Given the description of an element on the screen output the (x, y) to click on. 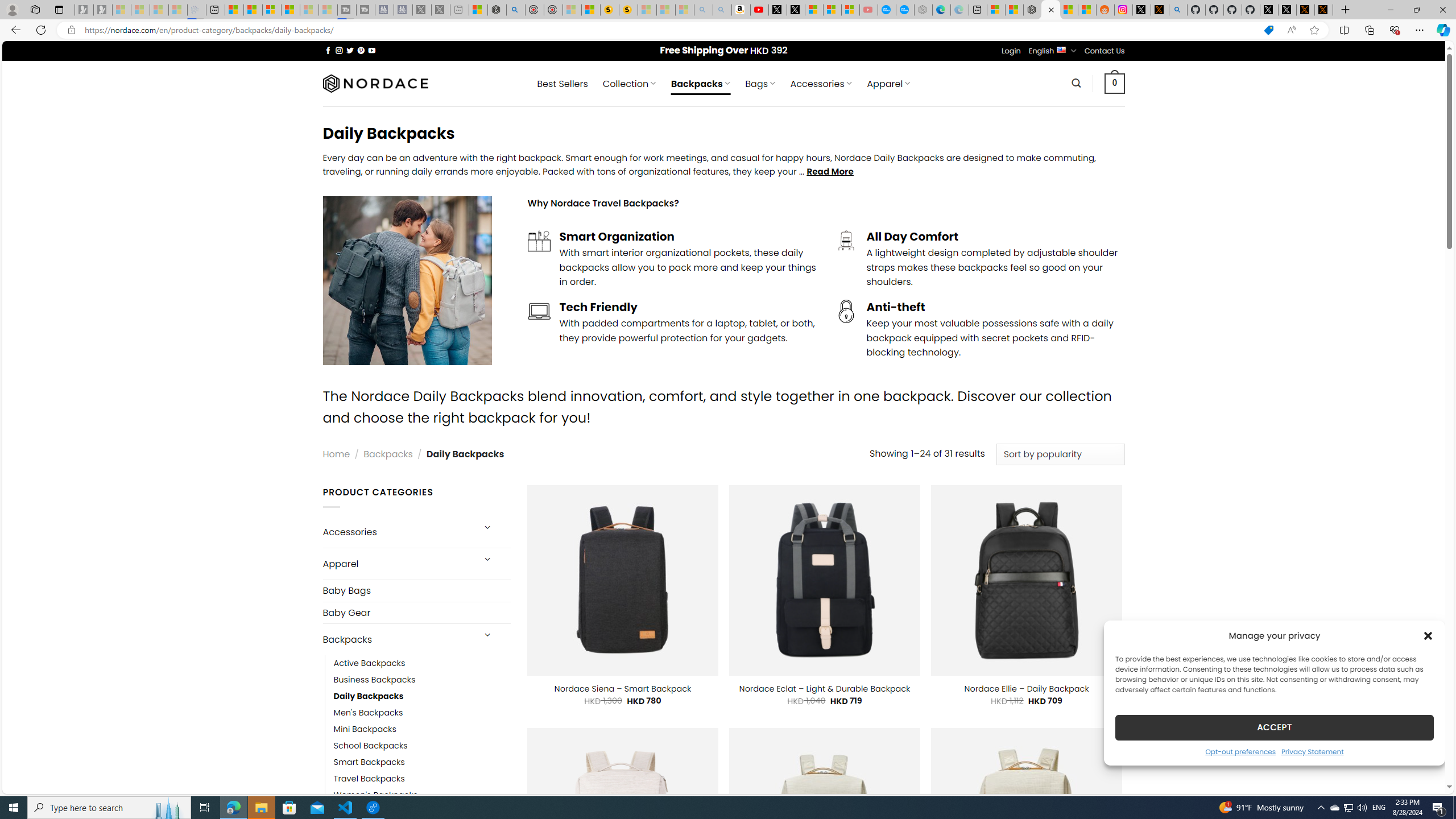
Profile / X (1268, 9)
  Best Sellers (562, 83)
Privacy Statement (1312, 750)
Women's Backpacks (375, 795)
Amazon Echo Dot PNG - Search Images - Sleeping (721, 9)
 Best Sellers (562, 83)
